Given the description of an element on the screen output the (x, y) to click on. 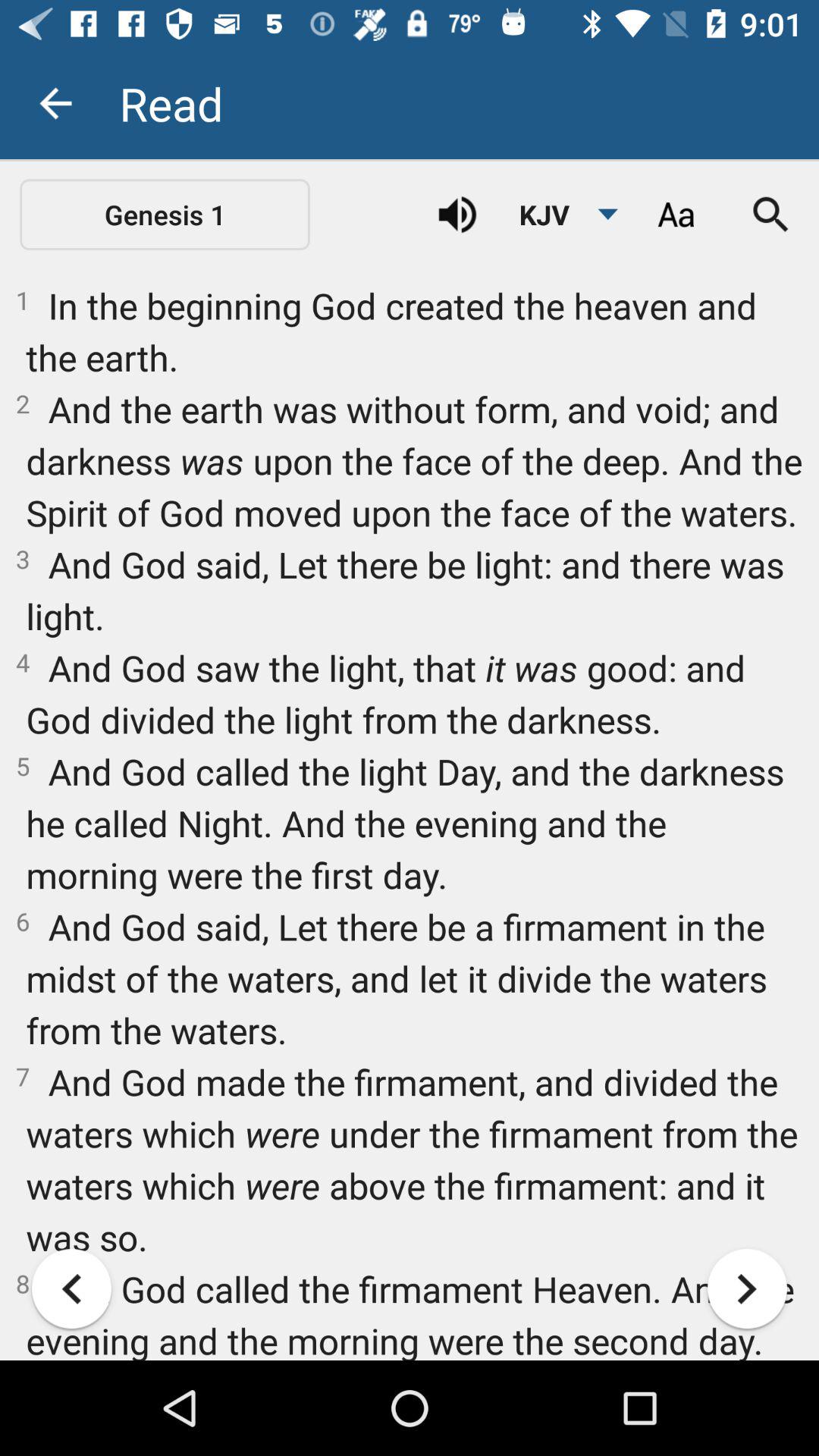
click icon above 1 in the (559, 214)
